Given the description of an element on the screen output the (x, y) to click on. 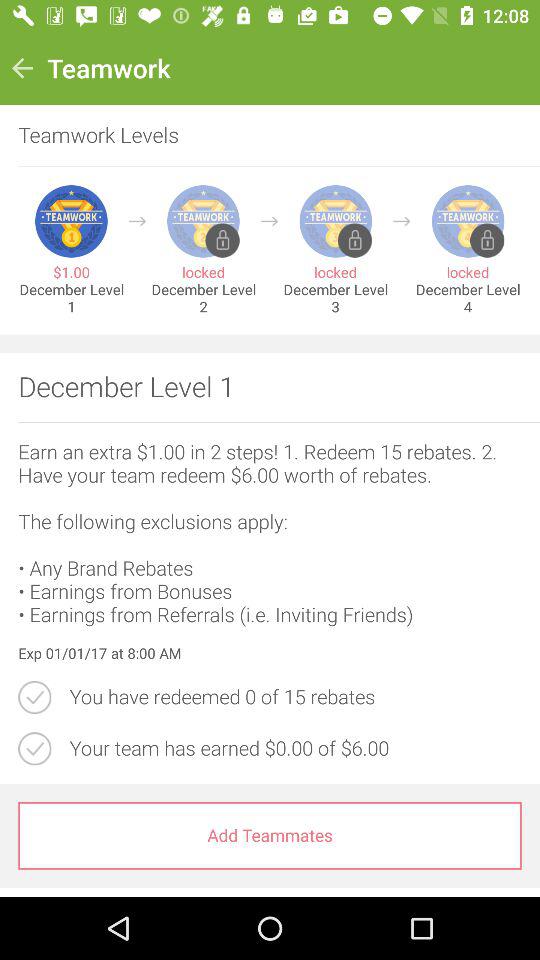
scroll until teamwork levels (260, 135)
